Given the description of an element on the screen output the (x, y) to click on. 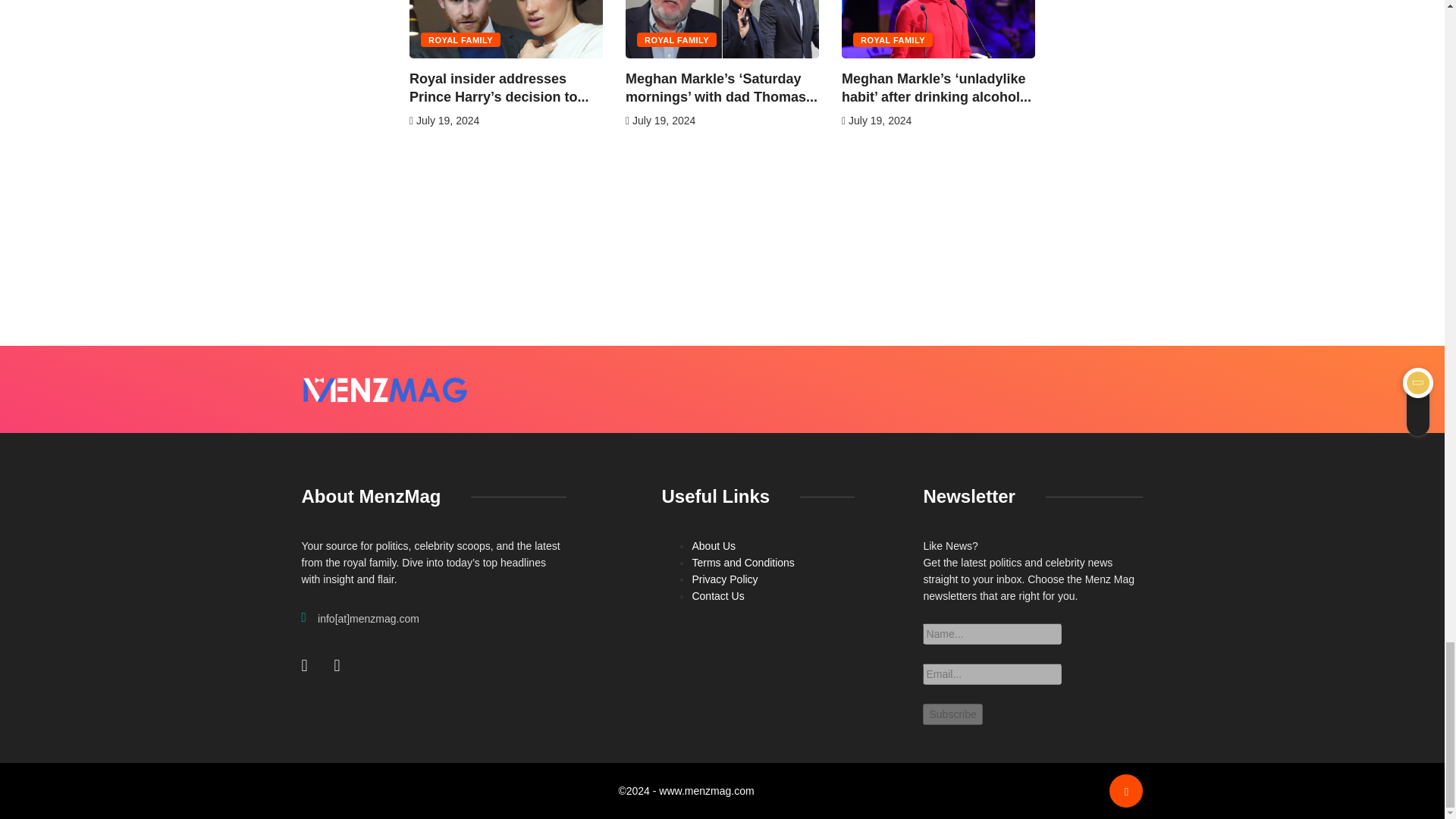
ROYAL FAMILY (460, 39)
Subscribe (952, 713)
